Given the description of an element on the screen output the (x, y) to click on. 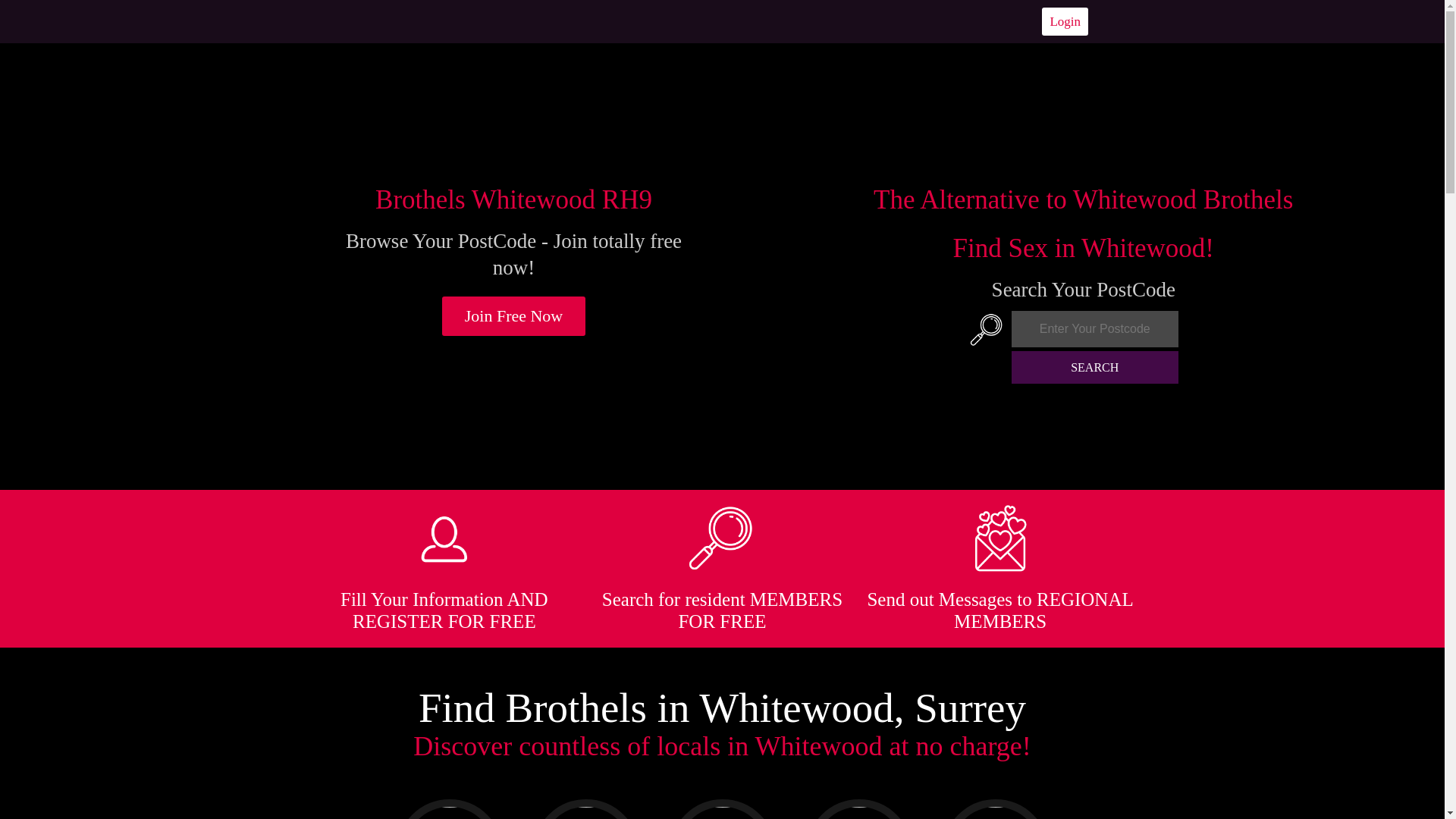
Join Free Now (514, 315)
Join (514, 315)
Login (1064, 21)
Login (1064, 21)
SEARCH (1094, 367)
